Given the description of an element on the screen output the (x, y) to click on. 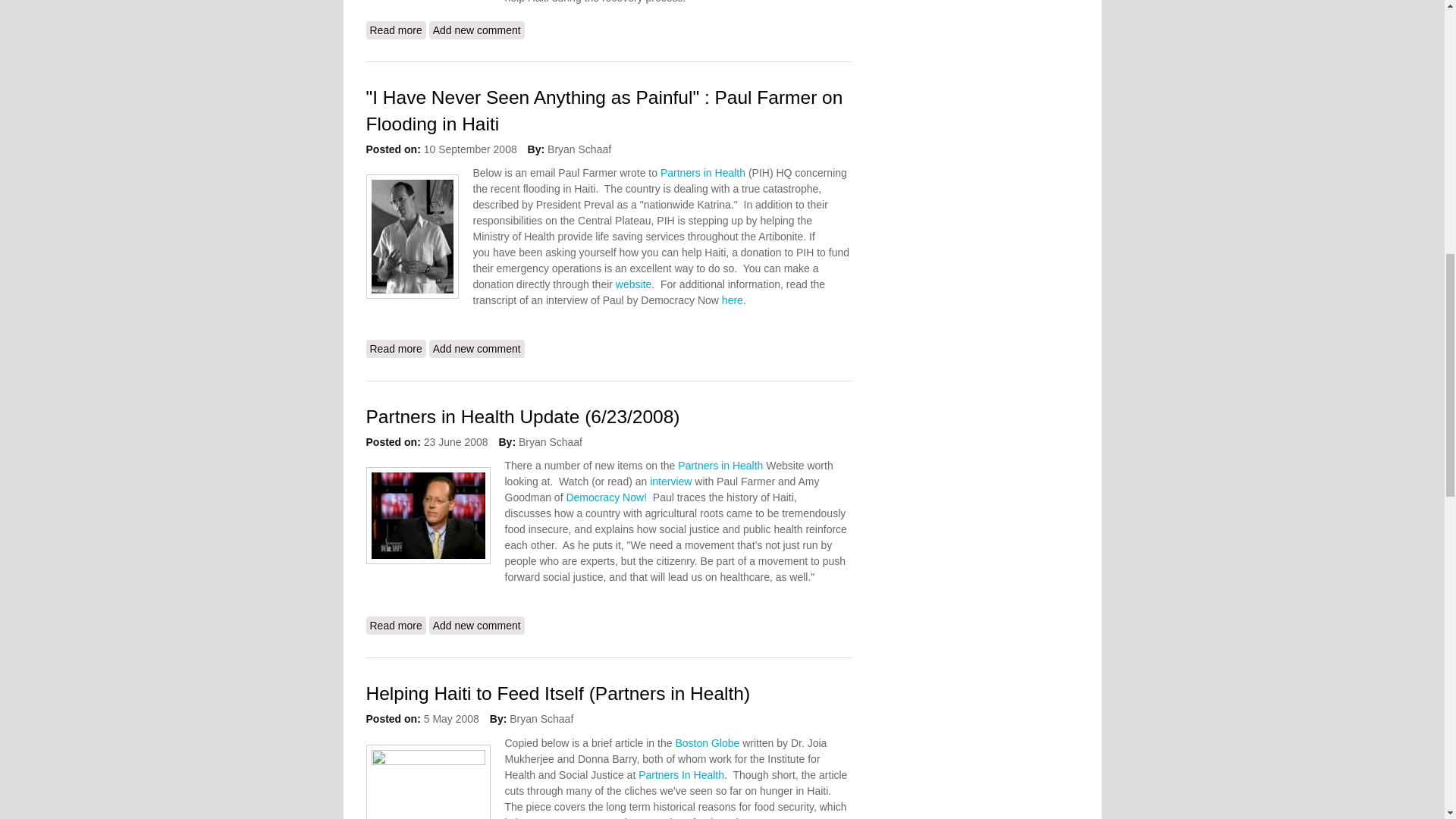
Add new comment (476, 348)
here (732, 300)
Partners in Health Launches New Campaign for Mosquito Nets (395, 30)
Partners in Health (703, 173)
Add new comment (476, 30)
website. (634, 284)
interview (670, 481)
Add a new comment to this page. (476, 30)
Partners in Health (720, 465)
